Given the description of an element on the screen output the (x, y) to click on. 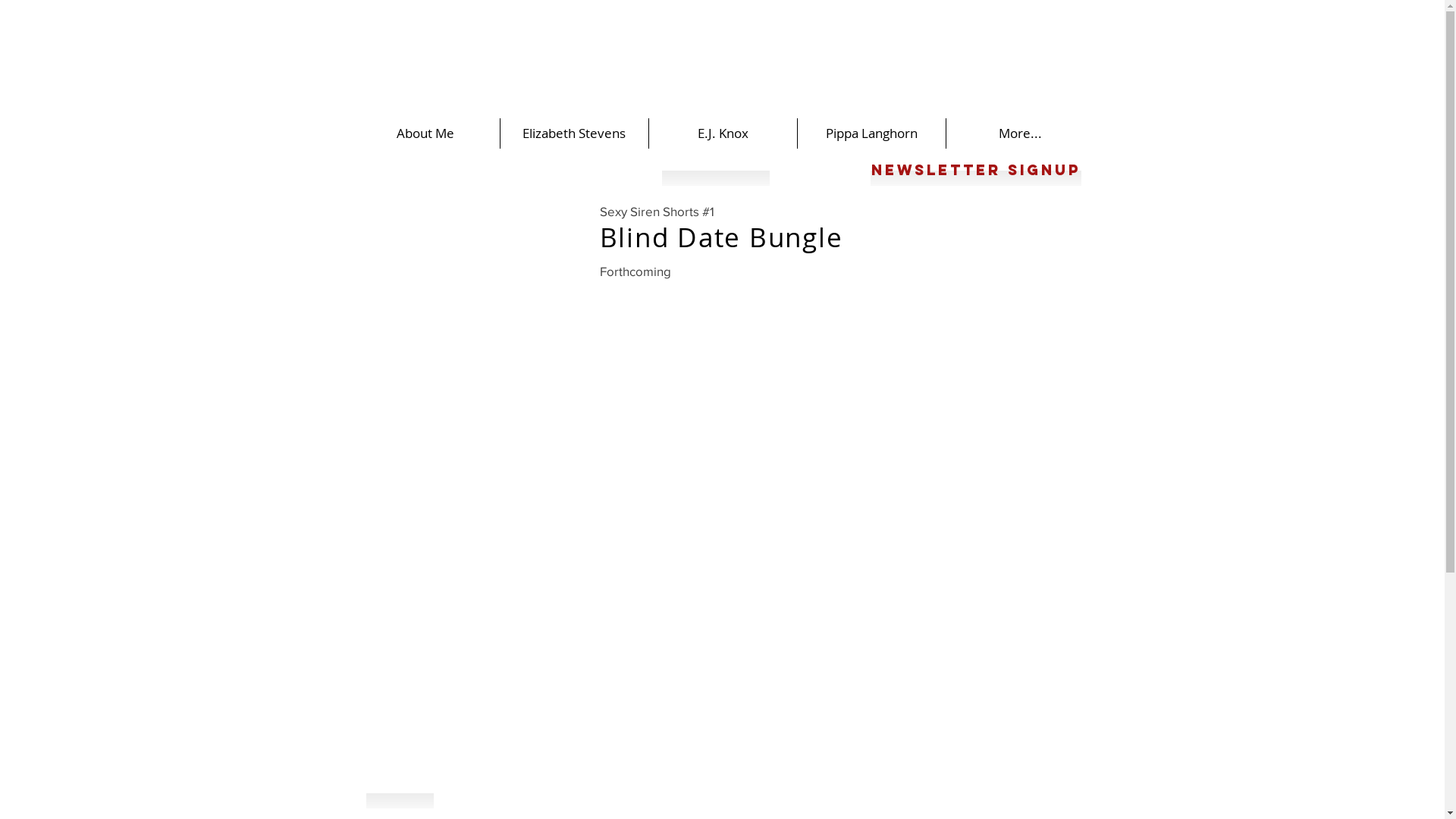
Pippa Langhorn Element type: text (870, 133)
Blind Date Bungle Element type: text (720, 236)
Newsletter Signup Element type: text (975, 170)
